Given the description of an element on the screen output the (x, y) to click on. 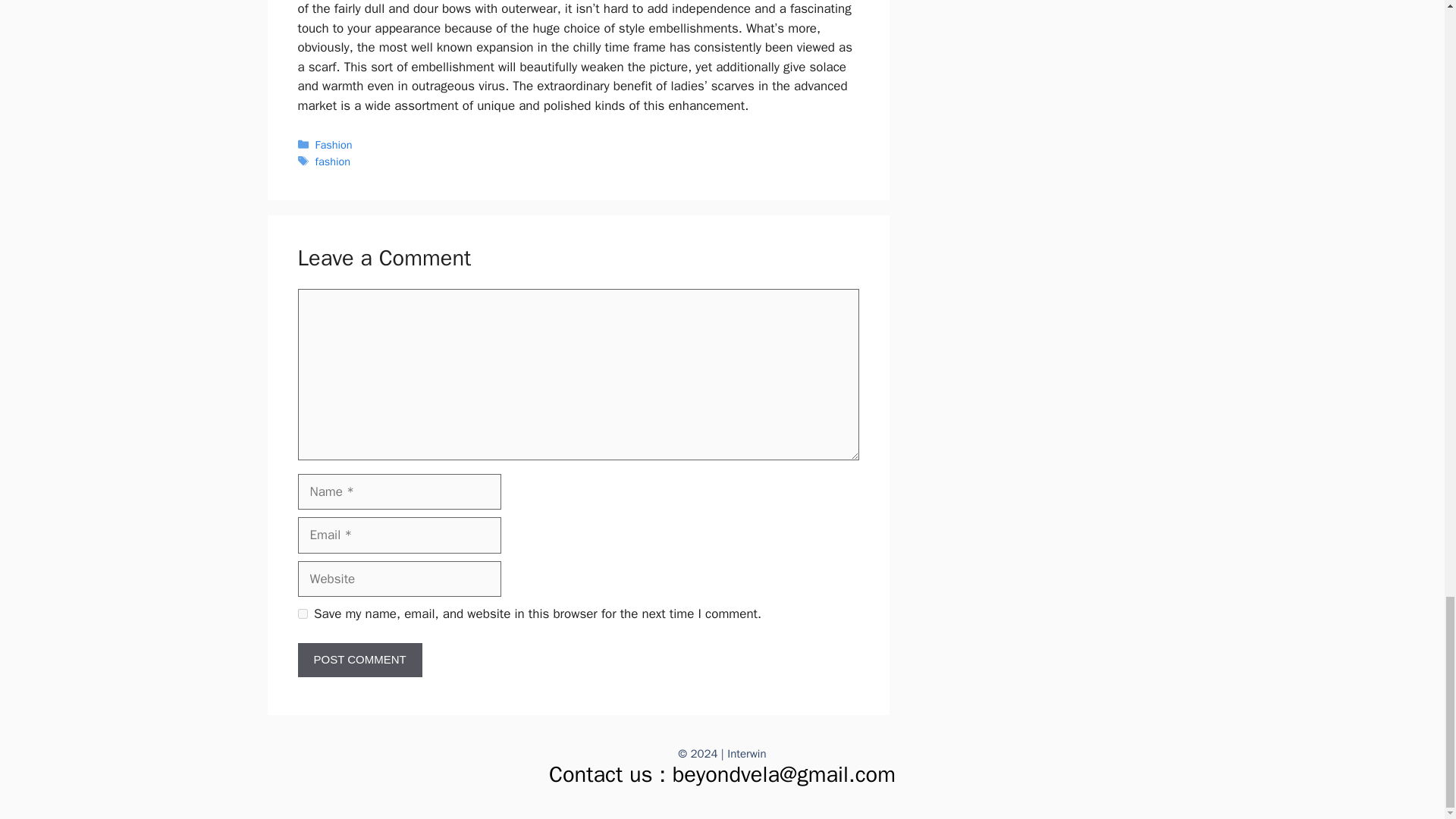
Fashion (333, 144)
Post Comment (359, 659)
Post Comment (359, 659)
yes (302, 614)
fashion (332, 161)
